Given the description of an element on the screen output the (x, y) to click on. 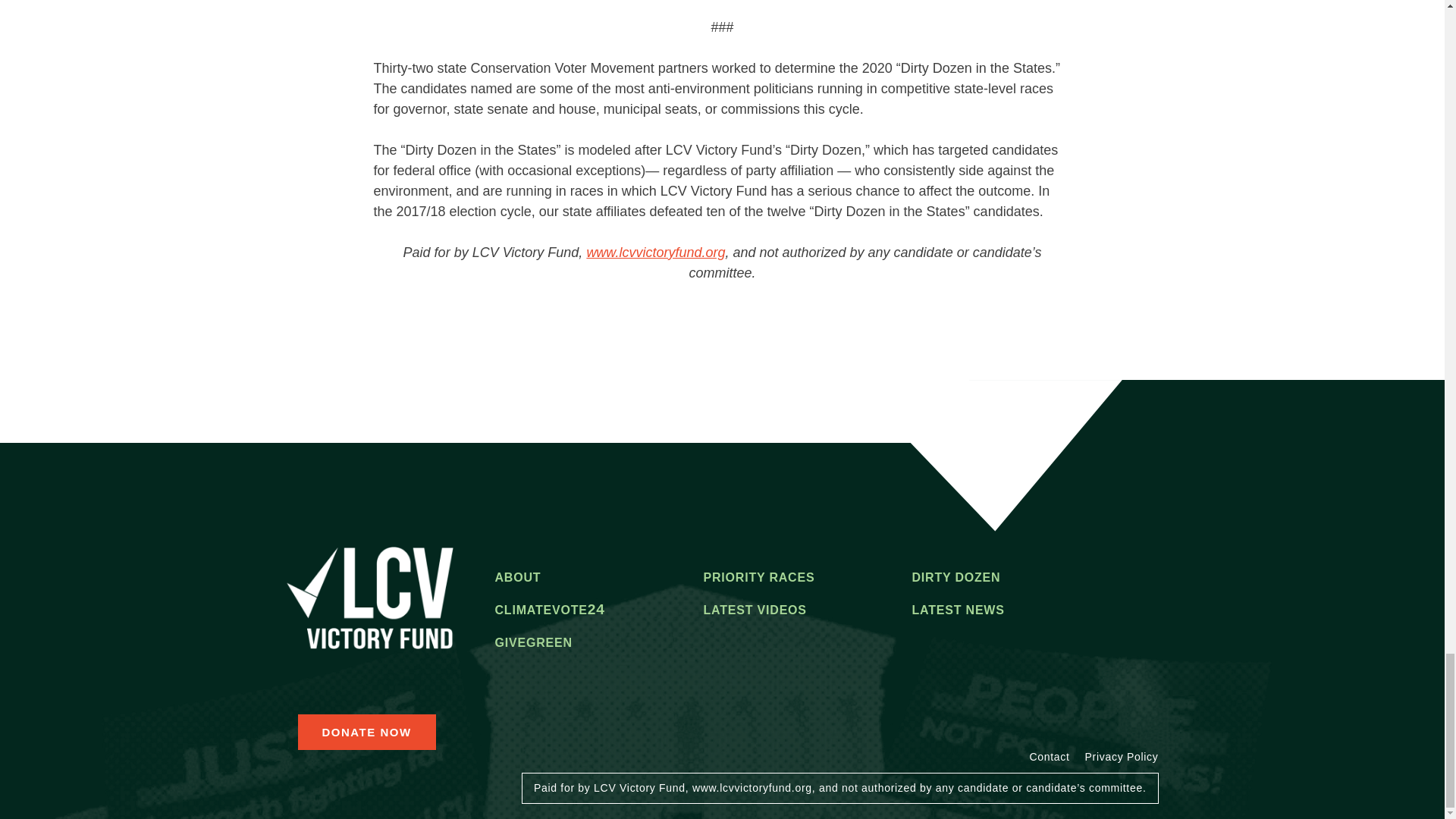
DIRTY DOZEN (955, 579)
ABOUT (517, 579)
PRIORITY RACES (758, 579)
www.lcvvictoryfund.org (655, 252)
